Given the description of an element on the screen output the (x, y) to click on. 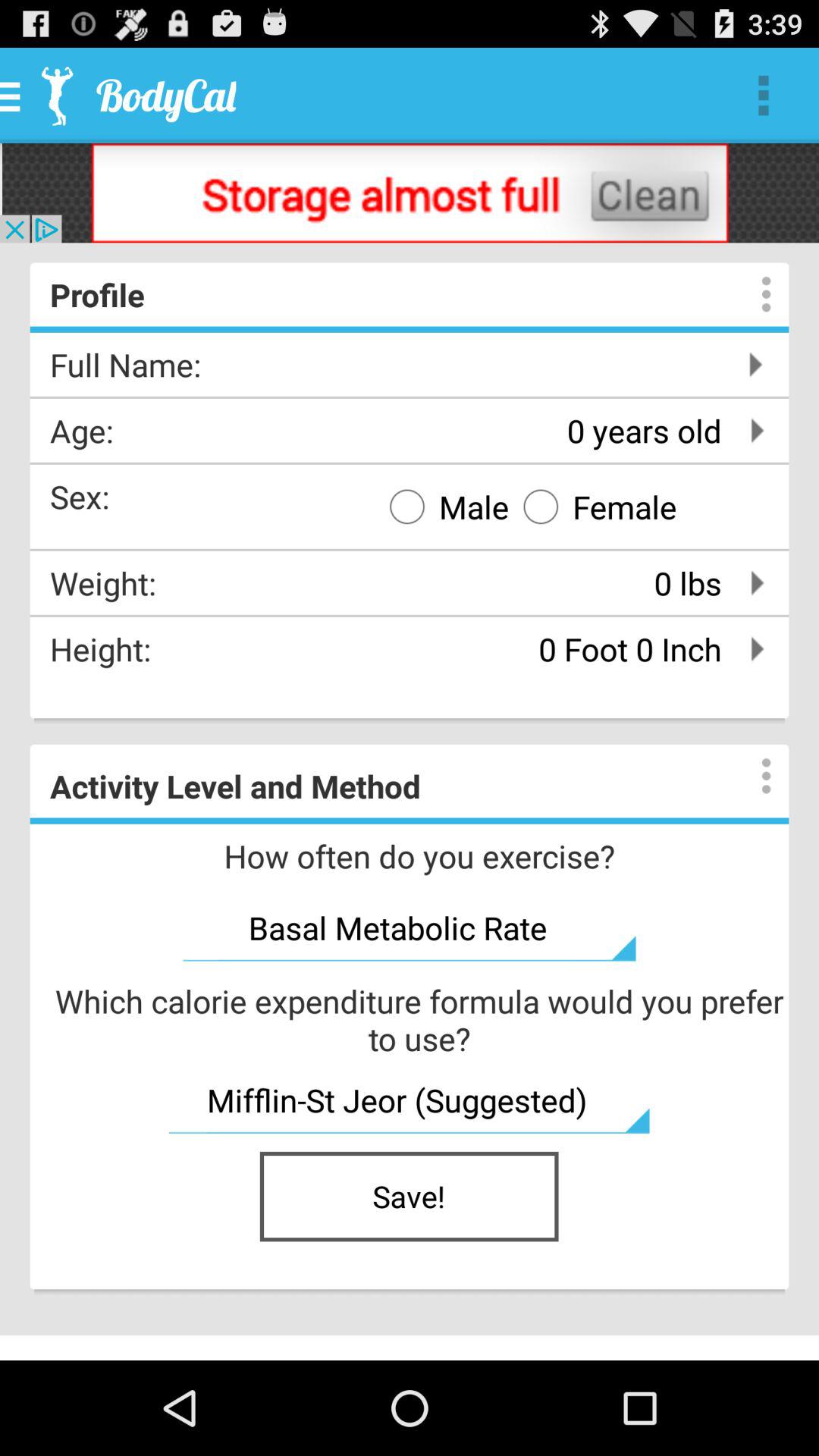
load advert (409, 192)
